Given the description of an element on the screen output the (x, y) to click on. 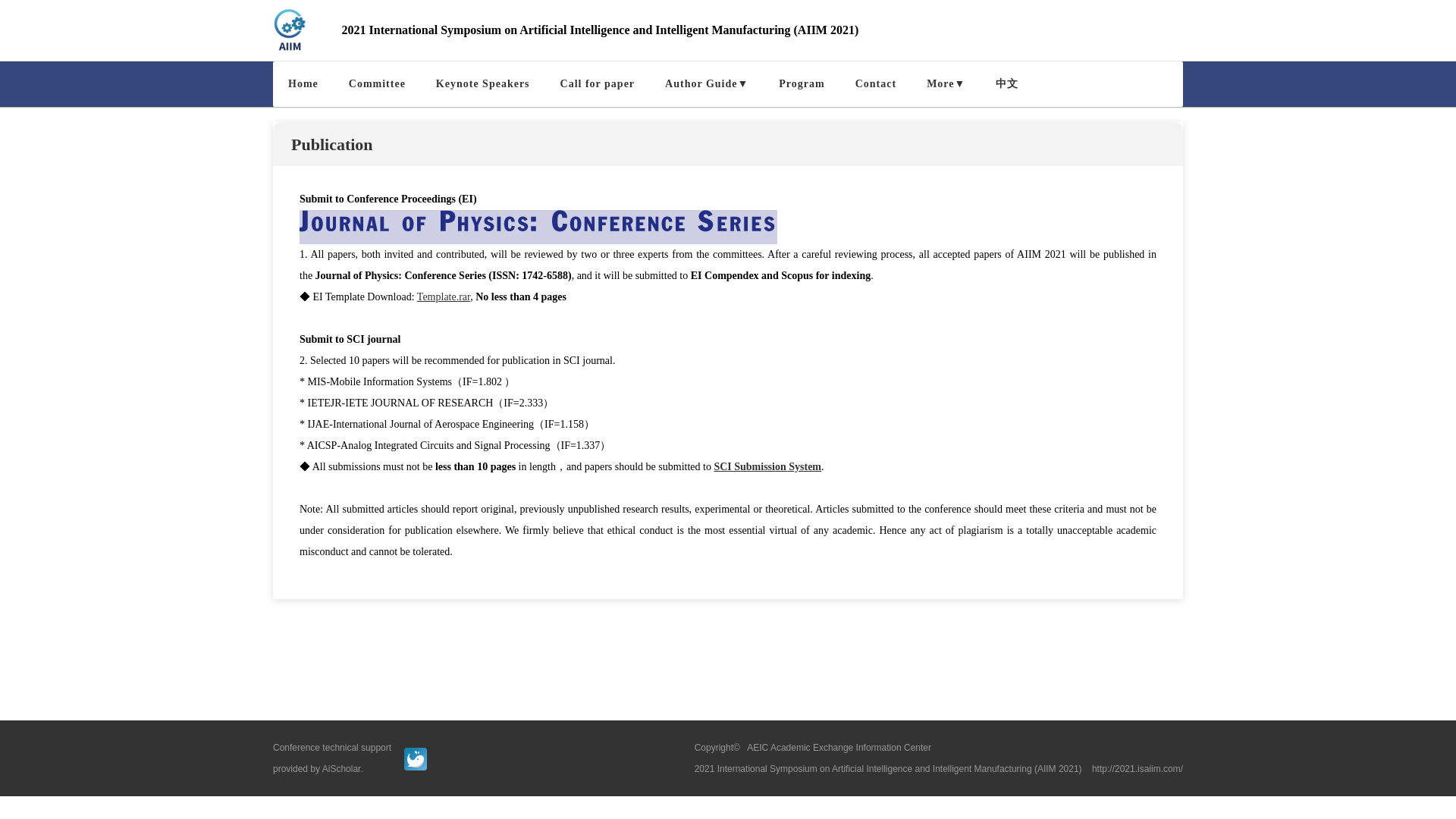
Home (303, 84)
Call for paper (597, 84)
Committee (376, 84)
Contact (875, 84)
Keynote Speakers (482, 84)
Program (801, 84)
SCI Submission System (767, 466)
Template.rar (443, 296)
